Given the description of an element on the screen output the (x, y) to click on. 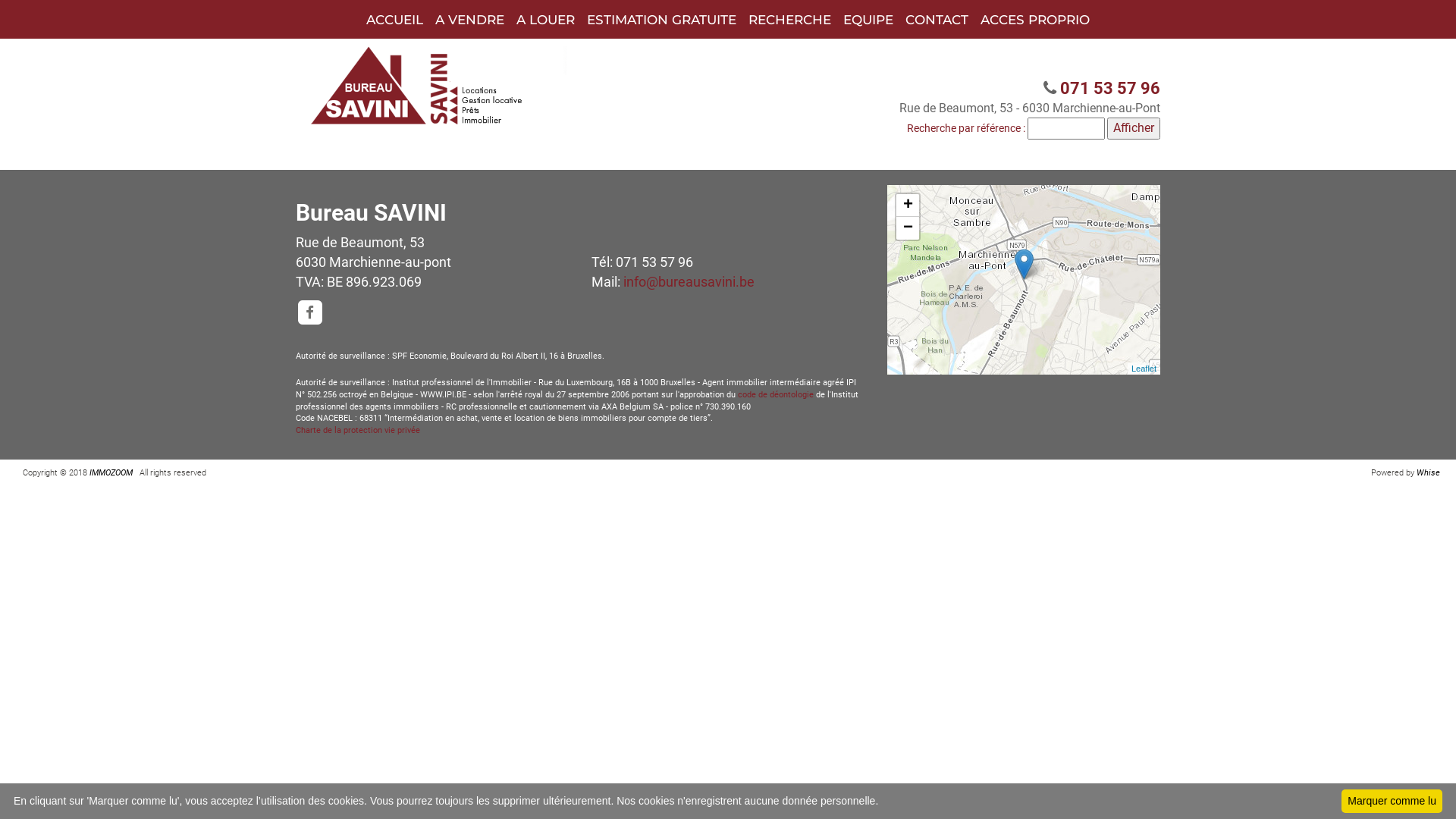
ACCES PROPRIO Element type: text (1034, 19)
RECHERCHE Element type: text (789, 19)
IMMOZOOM Element type: text (110, 472)
Afficher Element type: text (1133, 128)
info@bureausavini.be Element type: text (688, 281)
ACCUEIL Element type: text (394, 19)
EQUIPE Element type: text (868, 19)
A VENDRE Element type: text (469, 19)
Whise   Element type: text (1430, 472)
Leaflet Element type: text (1143, 368)
+ Element type: text (907, 205)
CONTACT Element type: text (936, 19)
ESTIMATION GRATUITE Element type: text (661, 19)
A LOUER Element type: text (545, 19)
